Given the description of an element on the screen output the (x, y) to click on. 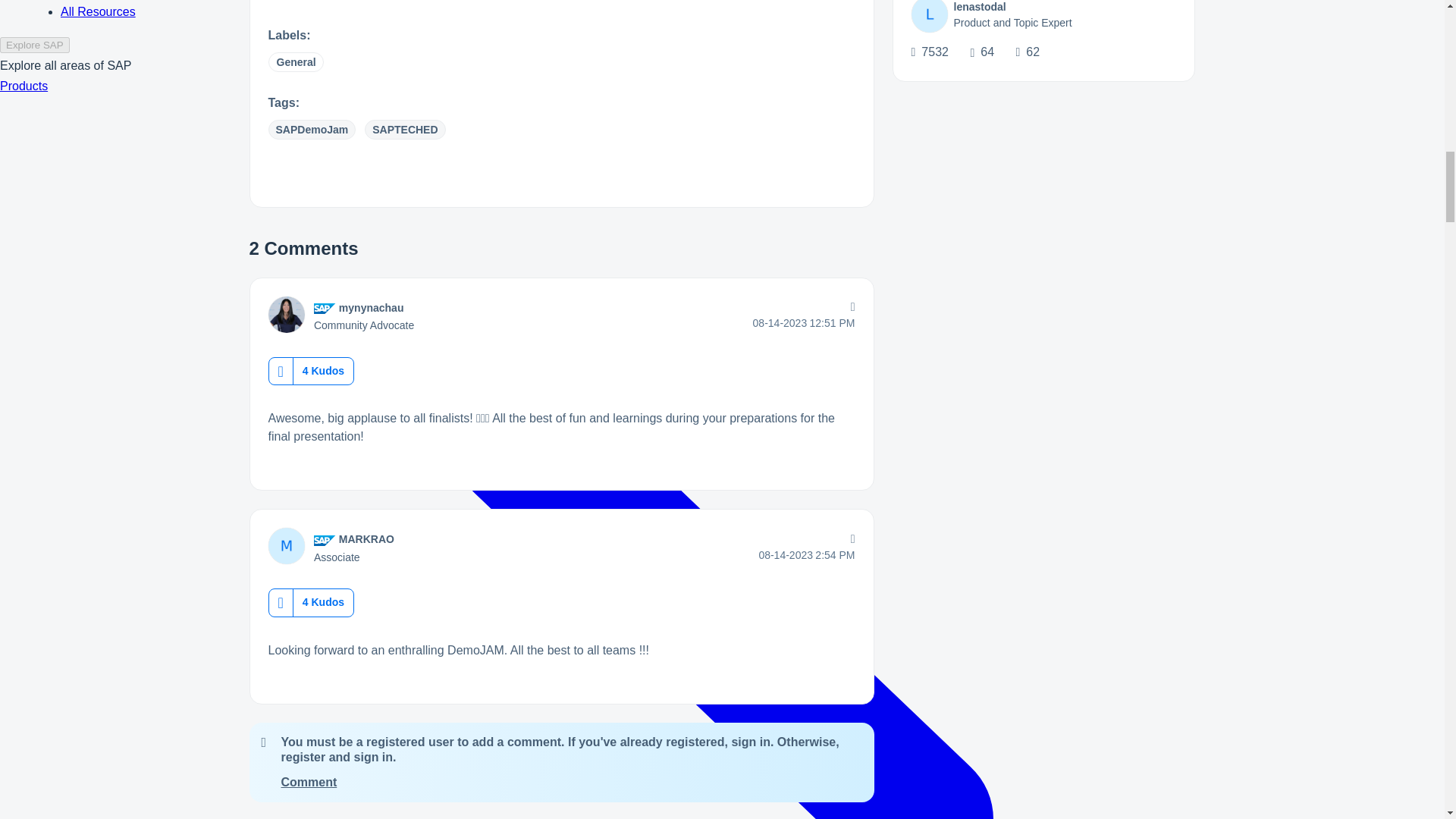
mynynachau (371, 307)
SAPDemoJam (311, 129)
4 Kudos (323, 370)
SAPTECHED (405, 129)
General (295, 62)
